Given the description of an element on the screen output the (x, y) to click on. 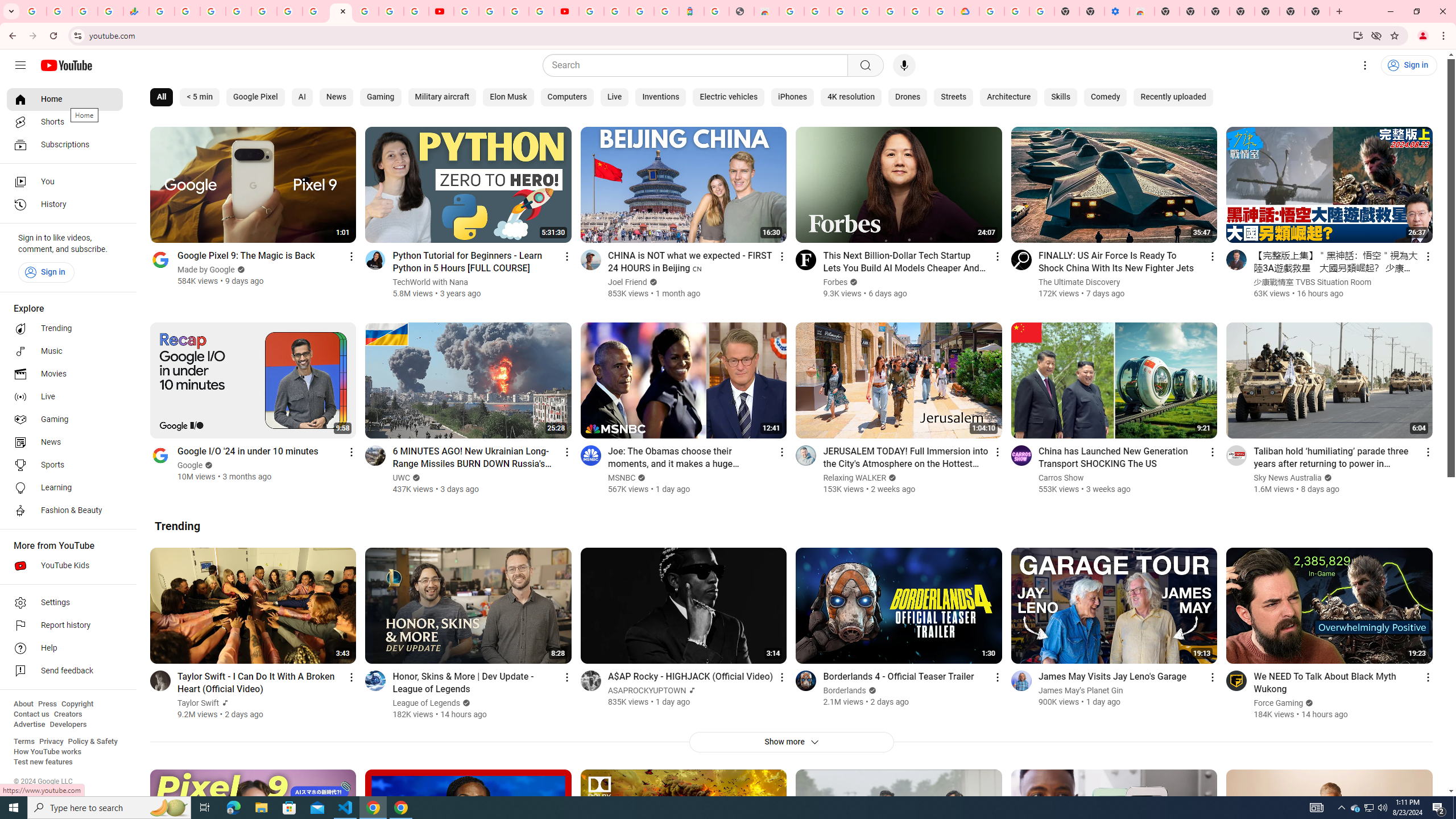
Streets (953, 97)
About (23, 703)
Music (64, 350)
Borderlands (844, 690)
Privacy (51, 741)
YouTube (440, 11)
Subscriptions (64, 144)
Chrome Web Store - Accessibility extensions (1141, 11)
Settings - Accessibility (1116, 11)
Official Artist Channel (691, 690)
Electric vehicles (728, 97)
Relaxing WALKER (854, 477)
